Given the description of an element on the screen output the (x, y) to click on. 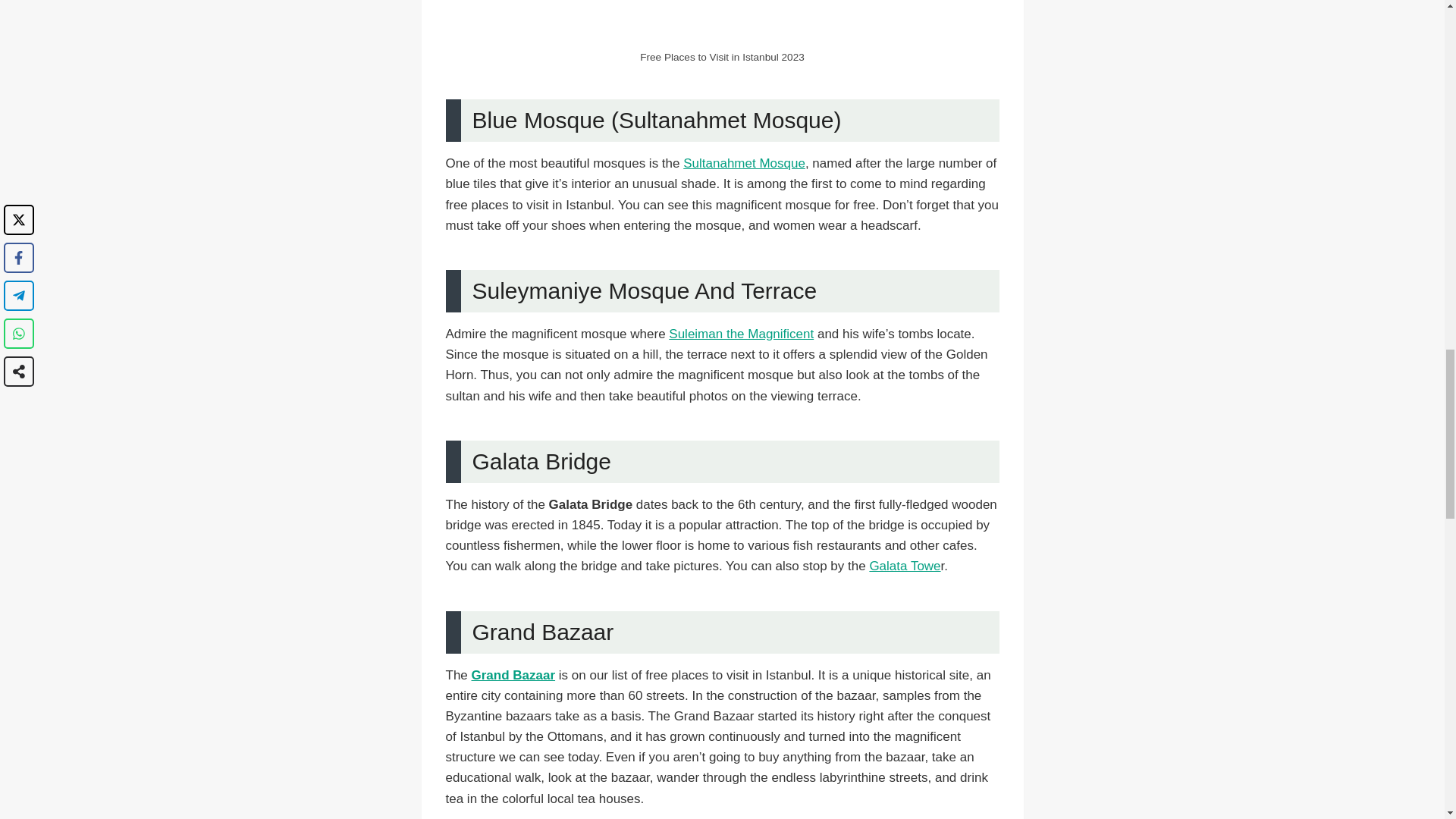
Sultanahmet Mosque (743, 163)
Suleiman the Magnificent (740, 333)
Galata Towe (904, 565)
Grand Bazaar (513, 675)
